Given the description of an element on the screen output the (x, y) to click on. 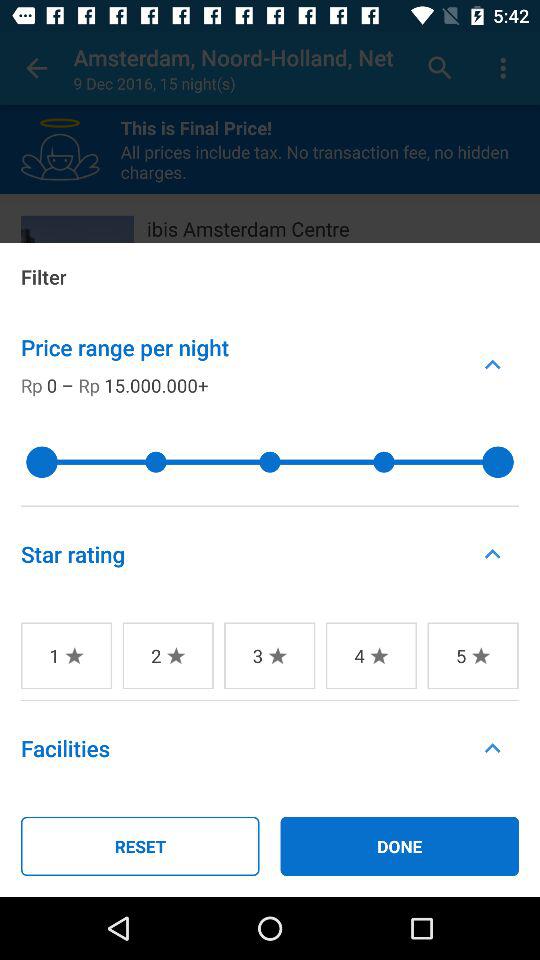
jump until done icon (399, 846)
